Given the description of an element on the screen output the (x, y) to click on. 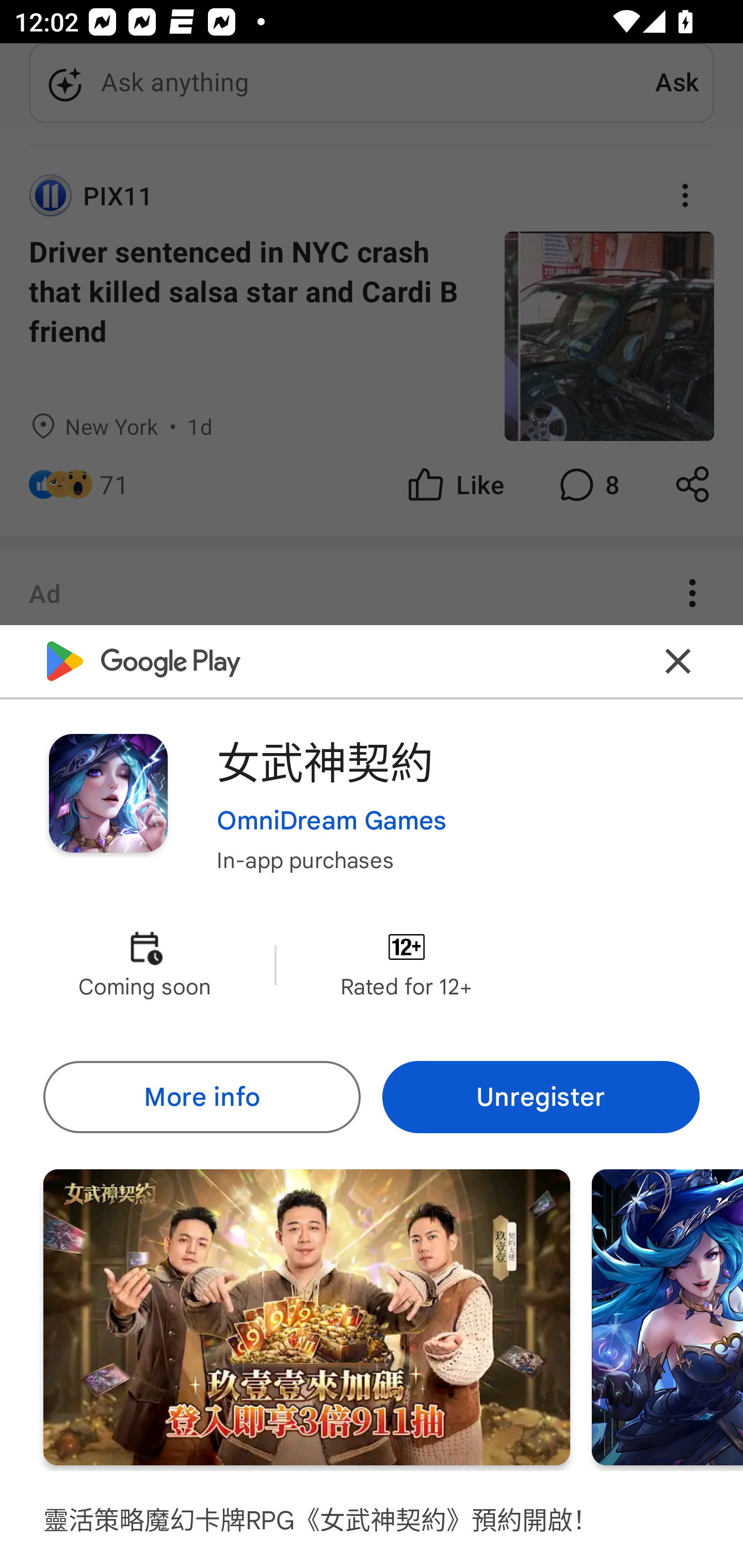
Close (677, 661)
Image of app or game icon for 女武神契約 (108, 792)
OmniDream Games (331, 820)
More info (201, 1097)
Unregister (540, 1097)
Screenshot "1" of "5" (306, 1317)
